Given the description of an element on the screen output the (x, y) to click on. 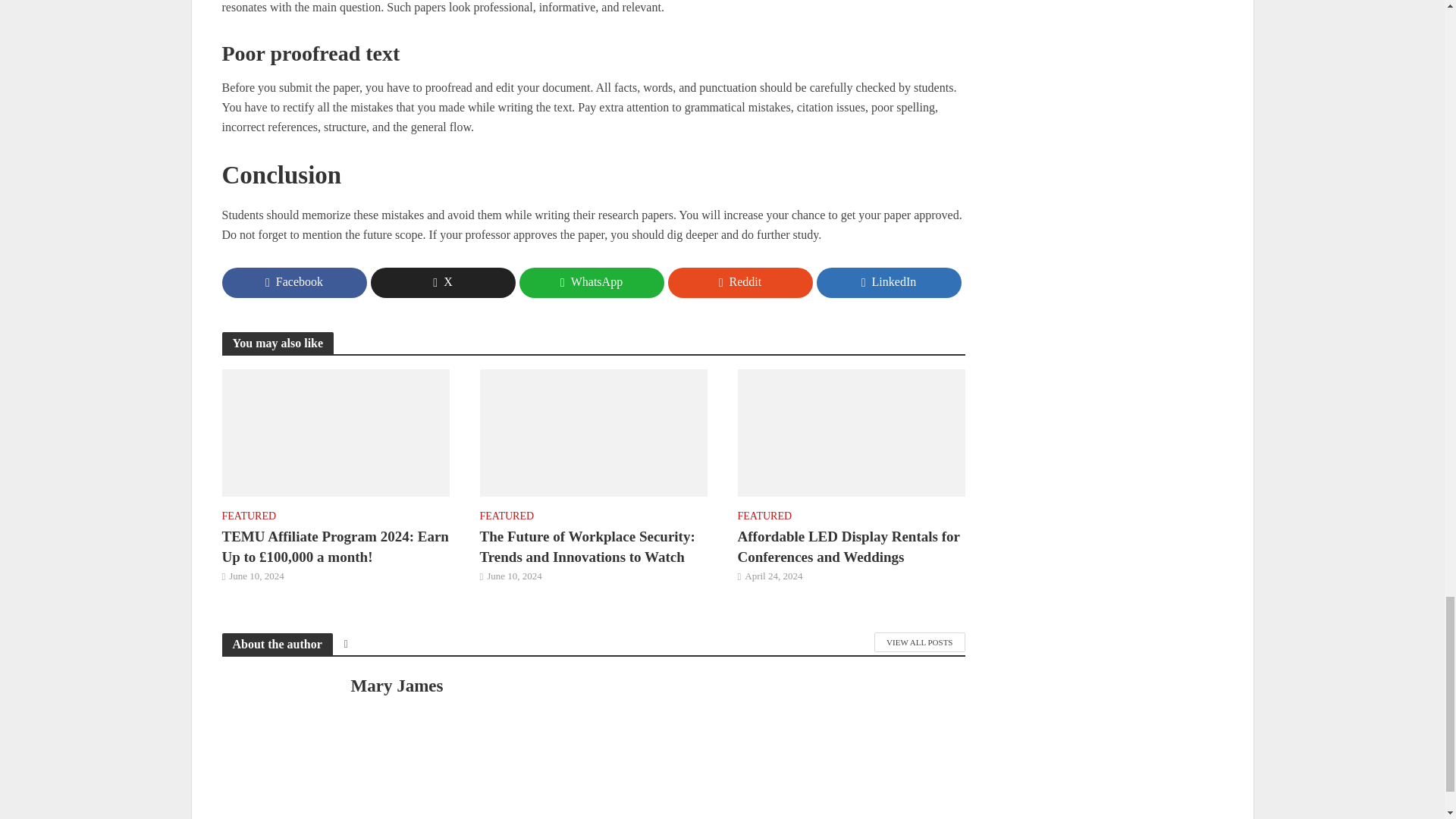
Affordable LED Display Rentals for Conferences and Weddings (849, 431)
